Given the description of an element on the screen output the (x, y) to click on. 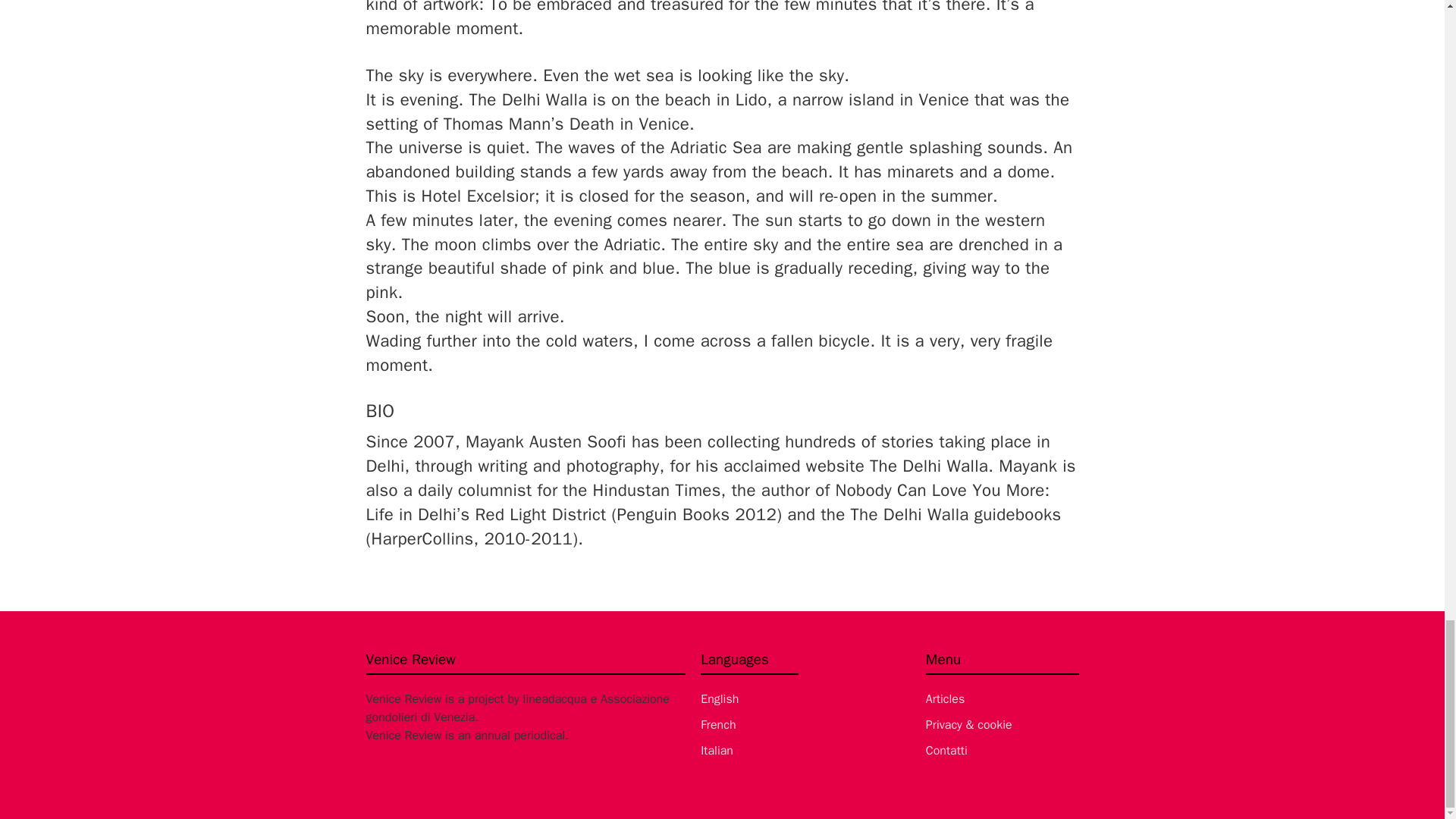
French (748, 724)
Italian (748, 751)
Contatti (1002, 751)
Articles (1002, 699)
English (748, 699)
